Given the description of an element on the screen output the (x, y) to click on. 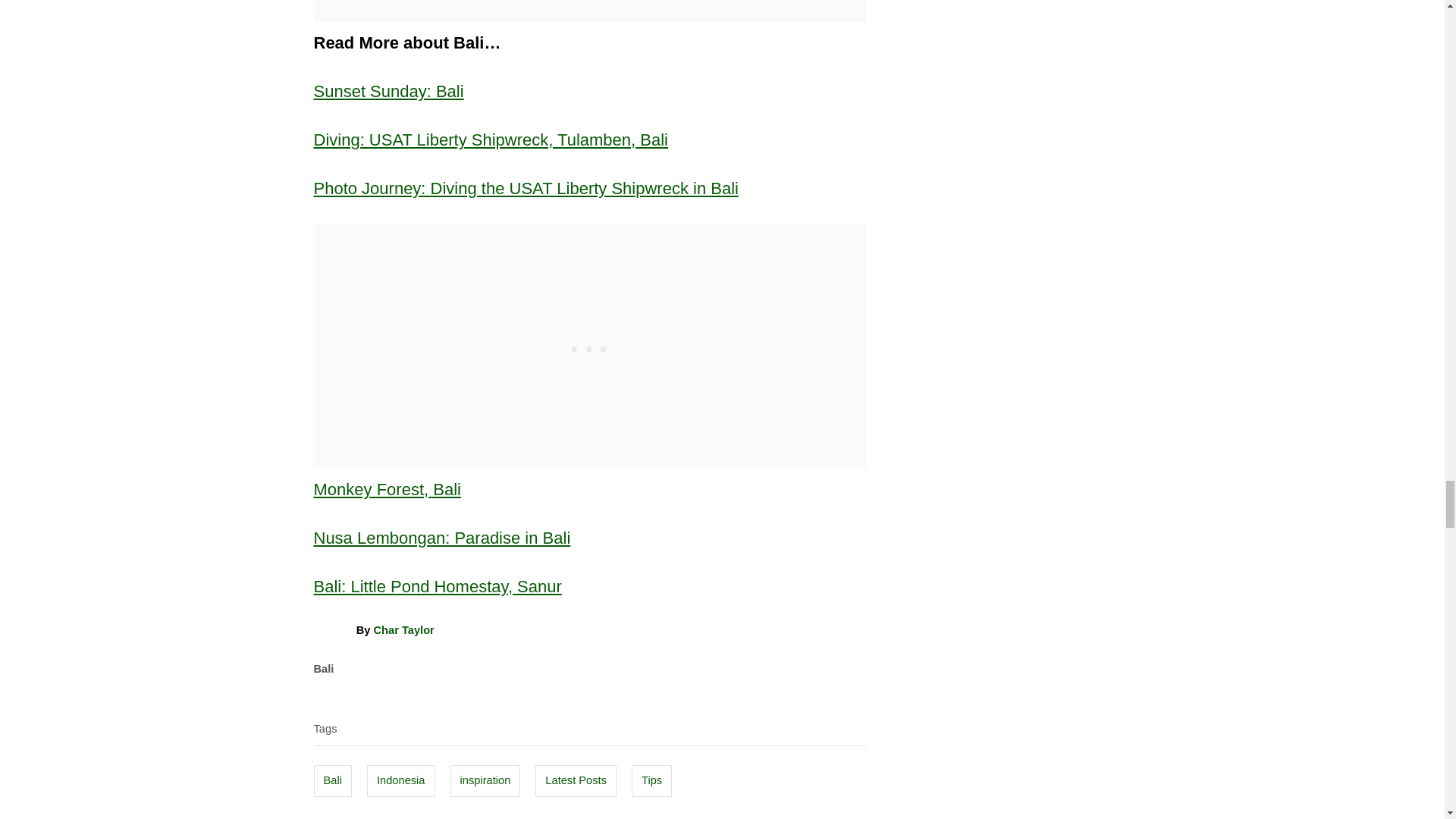
inspiration (485, 780)
Diving: USAT Liberty Shipwreck, Tulamben, Bali (491, 139)
Latest Posts (575, 780)
Photo Journey: Diving the USAT Liberty Shipwreck in Bali (526, 188)
Monkey Forest, Bali (387, 488)
Bali: Little Pond Homestay, Sanur (438, 586)
Tips (651, 780)
Sunset Sunday: Bali (389, 90)
Indonesia (400, 780)
Bali (333, 780)
Char Taylor (402, 630)
Bali (324, 668)
Nusa Lembongan: Paradise in Bali (442, 537)
